Given the description of an element on the screen output the (x, y) to click on. 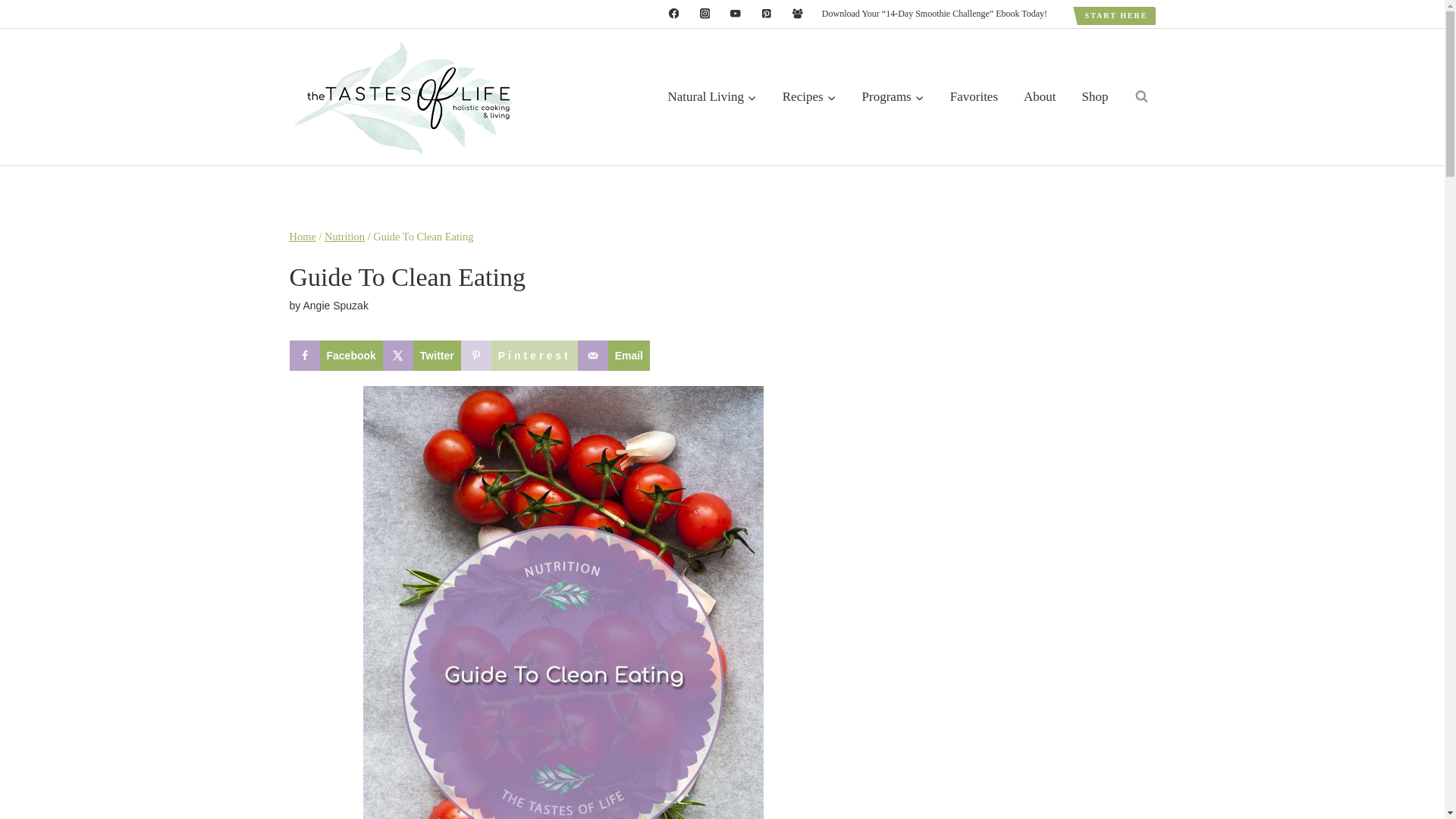
START HERE (1116, 15)
Share on X (421, 355)
Save to Pinterest (519, 355)
Programs (892, 96)
Send over email (613, 355)
Natural Living (711, 96)
Recipes (809, 96)
Share on Facebook (335, 355)
